Given the description of an element on the screen output the (x, y) to click on. 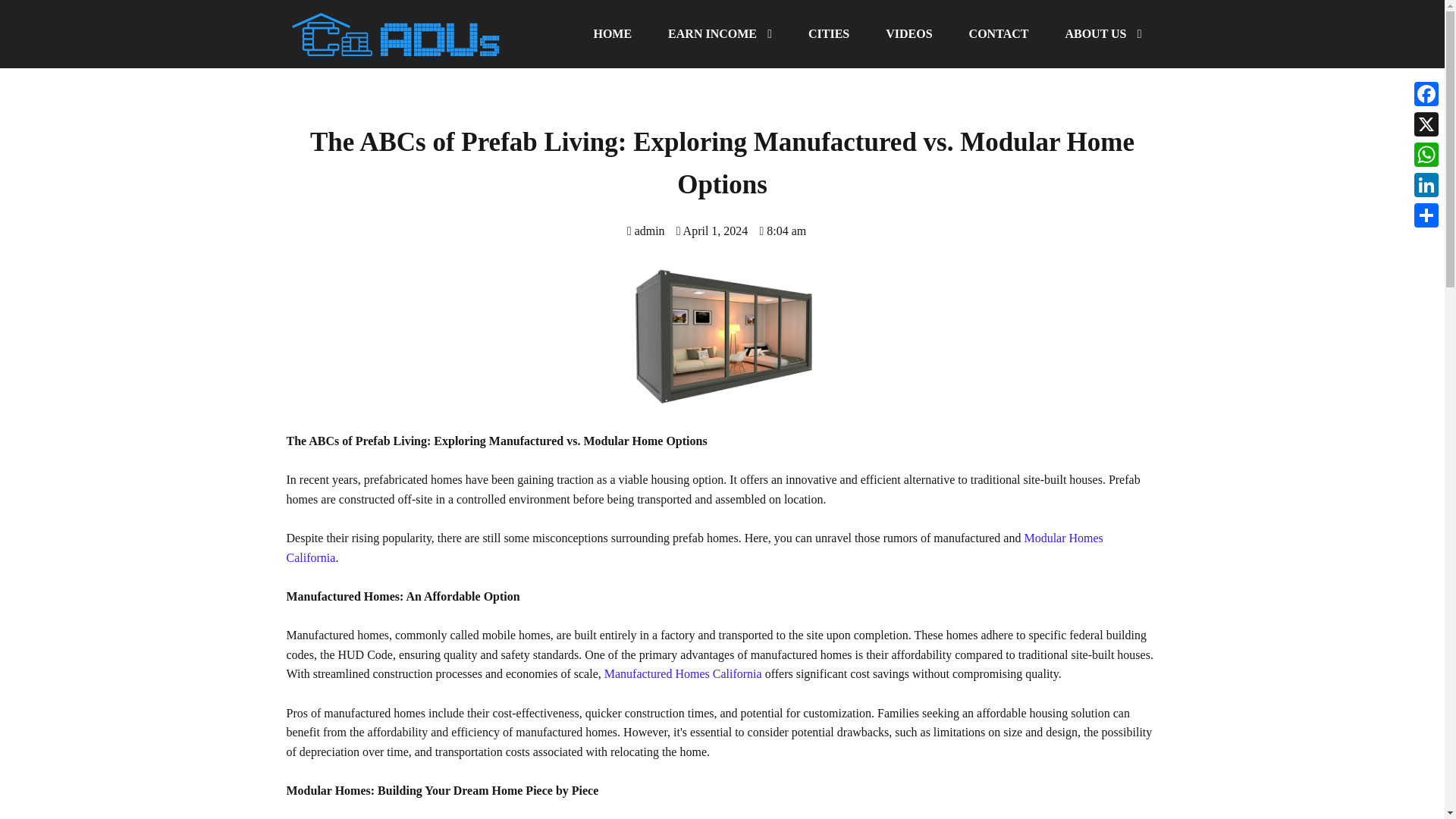
Facebook (1425, 93)
HOME (611, 33)
WhatsApp (1425, 154)
Manufactured Homes California (682, 673)
EARN INCOME (719, 33)
CITIES (829, 33)
April 1, 2024 (712, 230)
CONTACT (998, 33)
X (1425, 123)
LinkedIn (1425, 184)
Facebook (1425, 93)
ABOUT US (1102, 33)
8:04 am (782, 230)
VIDEOS (909, 33)
Share (1425, 214)
